Given the description of an element on the screen output the (x, y) to click on. 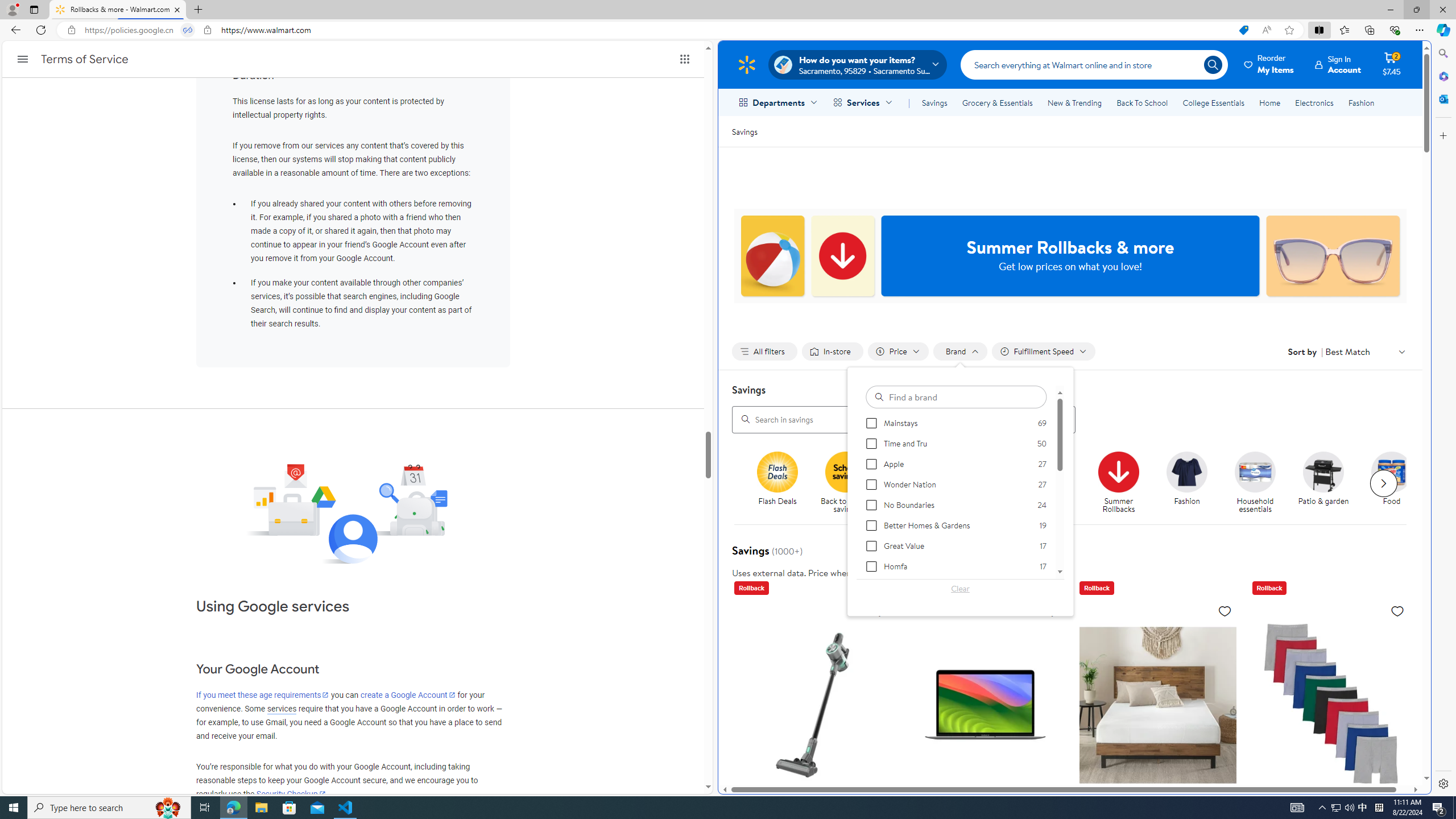
Grocery & Essentials (997, 102)
Food Food (1391, 478)
Back to school savings (849, 483)
Fashion Fashion (1187, 478)
Back To School (1141, 102)
Filter by In-store (831, 351)
Food (1395, 483)
Get it today (1050, 471)
All filters none applied, activate to change (764, 351)
Search in savings (903, 419)
Food (1391, 471)
